Given the description of an element on the screen output the (x, y) to click on. 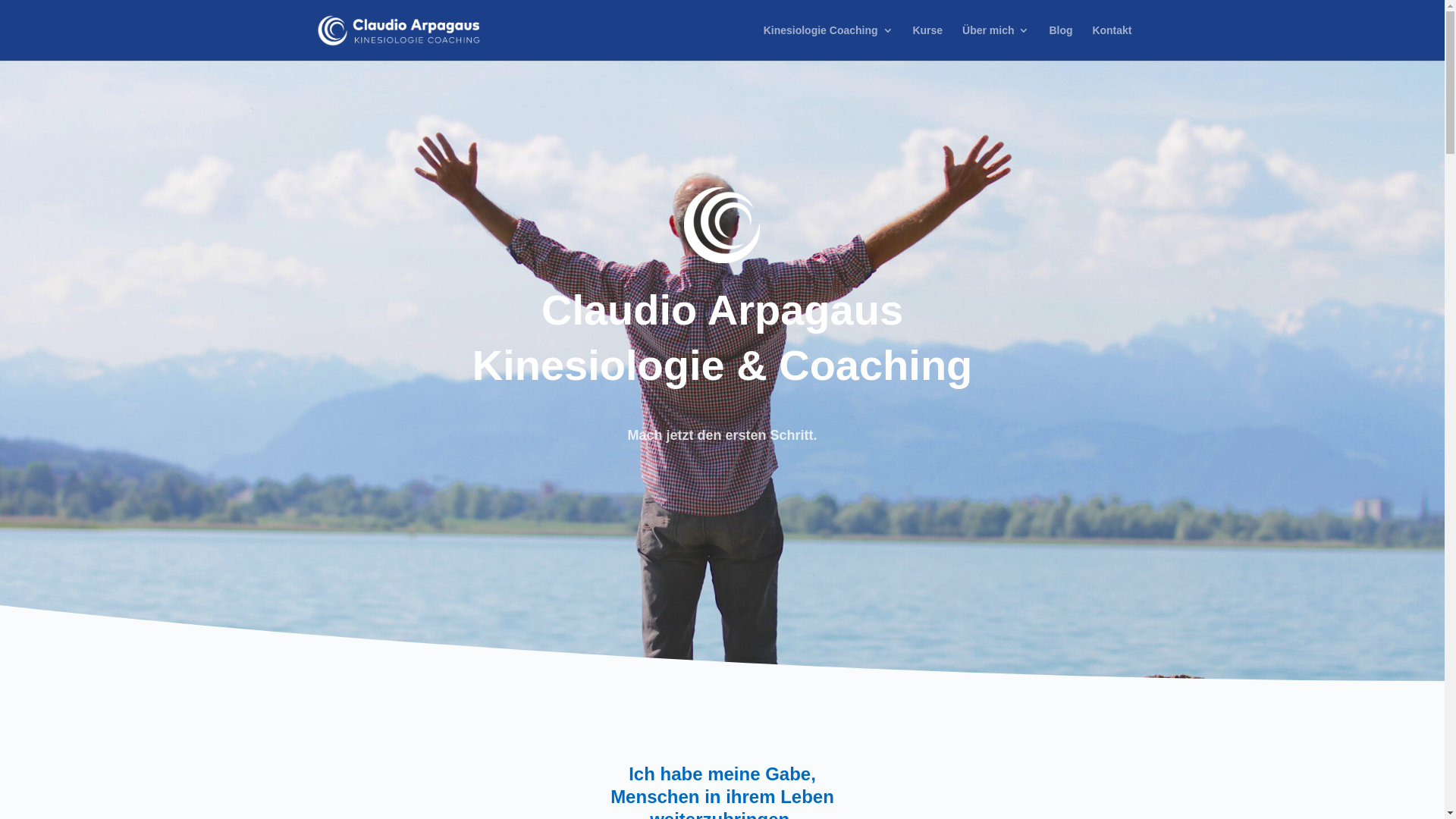
KCA_Logozeichen_neg Element type: hover (721, 225)
Kurse Element type: text (927, 42)
Kinesiologie Coaching Element type: text (828, 42)
Kontakt Element type: text (1111, 42)
Blog Element type: text (1060, 42)
